Given the description of an element on the screen output the (x, y) to click on. 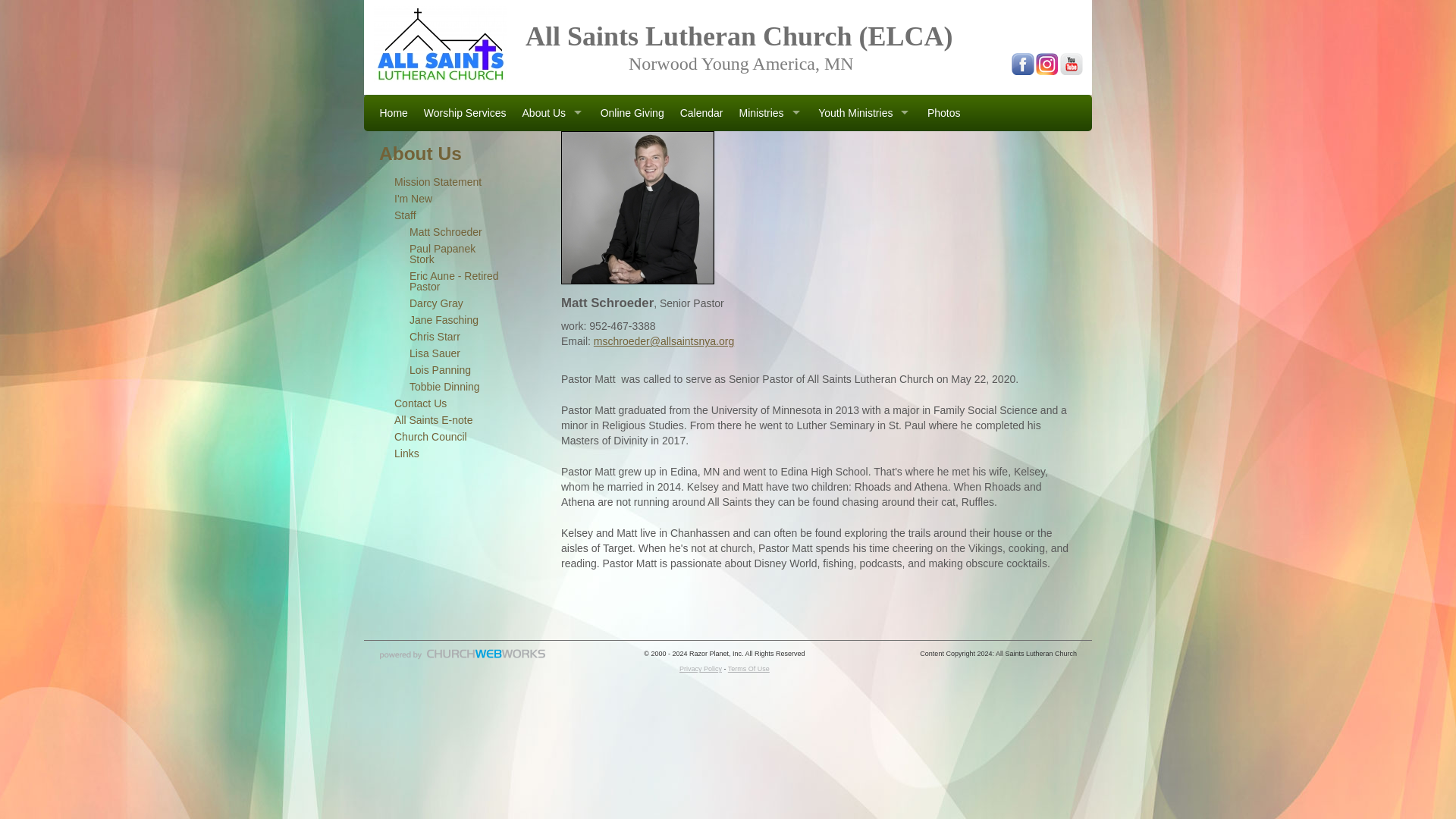
Worship Services (463, 112)
Online Giving (631, 112)
About Us (552, 112)
Ministries (770, 112)
Calendar (700, 112)
Home (392, 112)
Church Web Works - Simply Powerful Websites For Churches (462, 658)
